Given the description of an element on the screen output the (x, y) to click on. 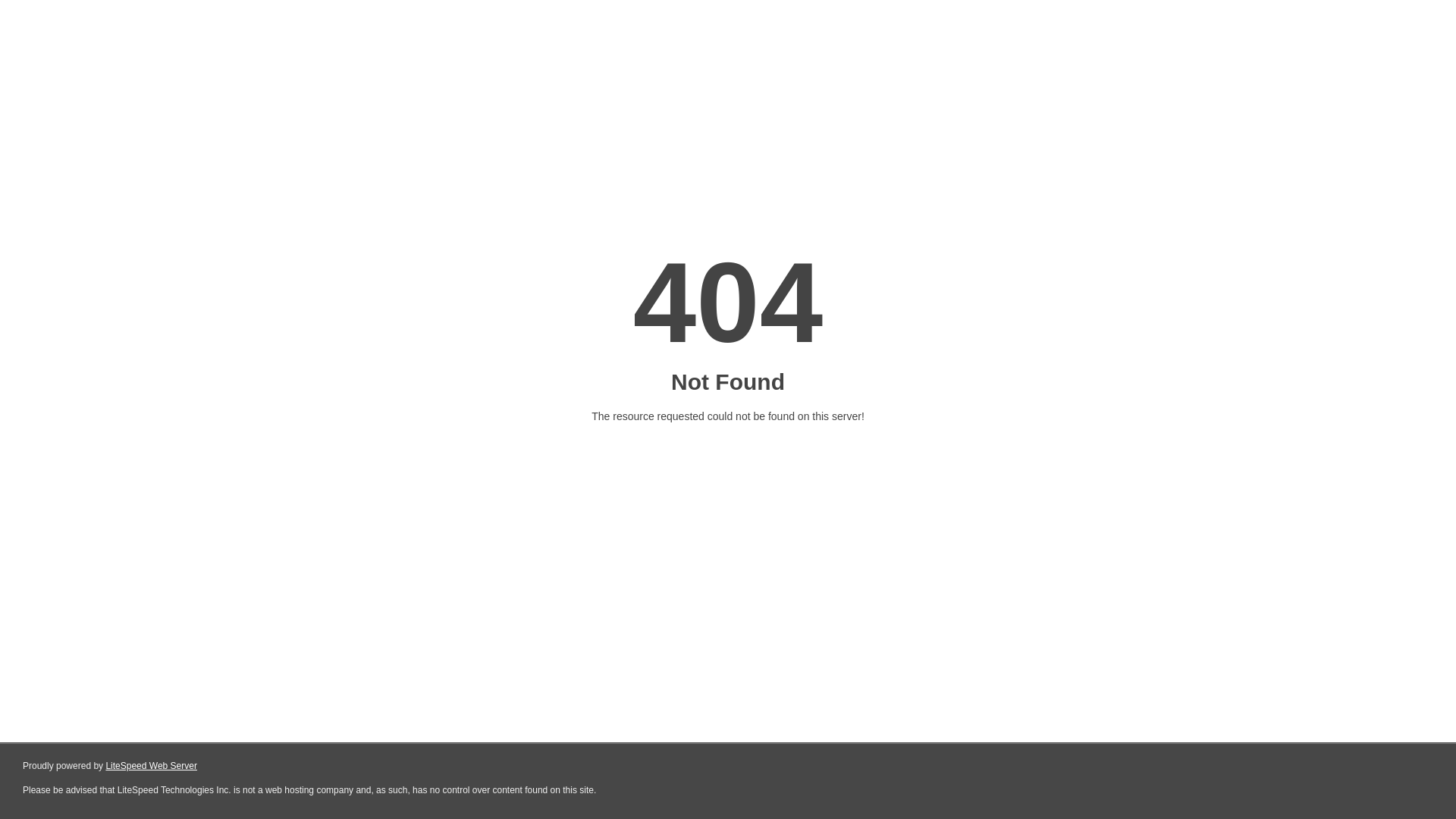
LiteSpeed Web Server Element type: text (151, 765)
